Given the description of an element on the screen output the (x, y) to click on. 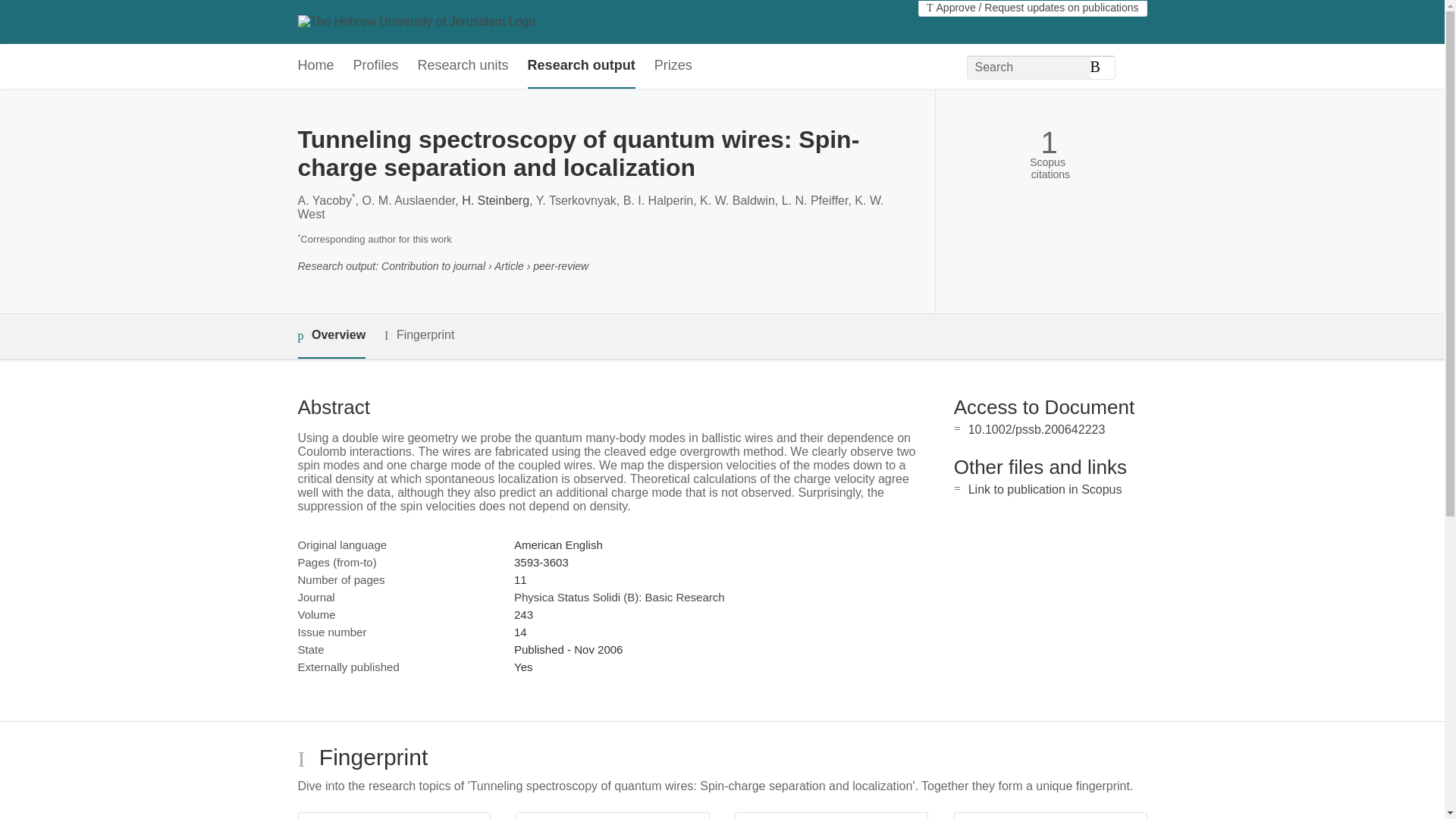
Research output (580, 66)
Overview (331, 335)
Link to publication in Scopus (1045, 489)
The Hebrew University of Jerusalem Home (416, 21)
Fingerprint (419, 335)
H. Steinberg (495, 200)
Profiles (375, 66)
Research units (462, 66)
